Given the description of an element on the screen output the (x, y) to click on. 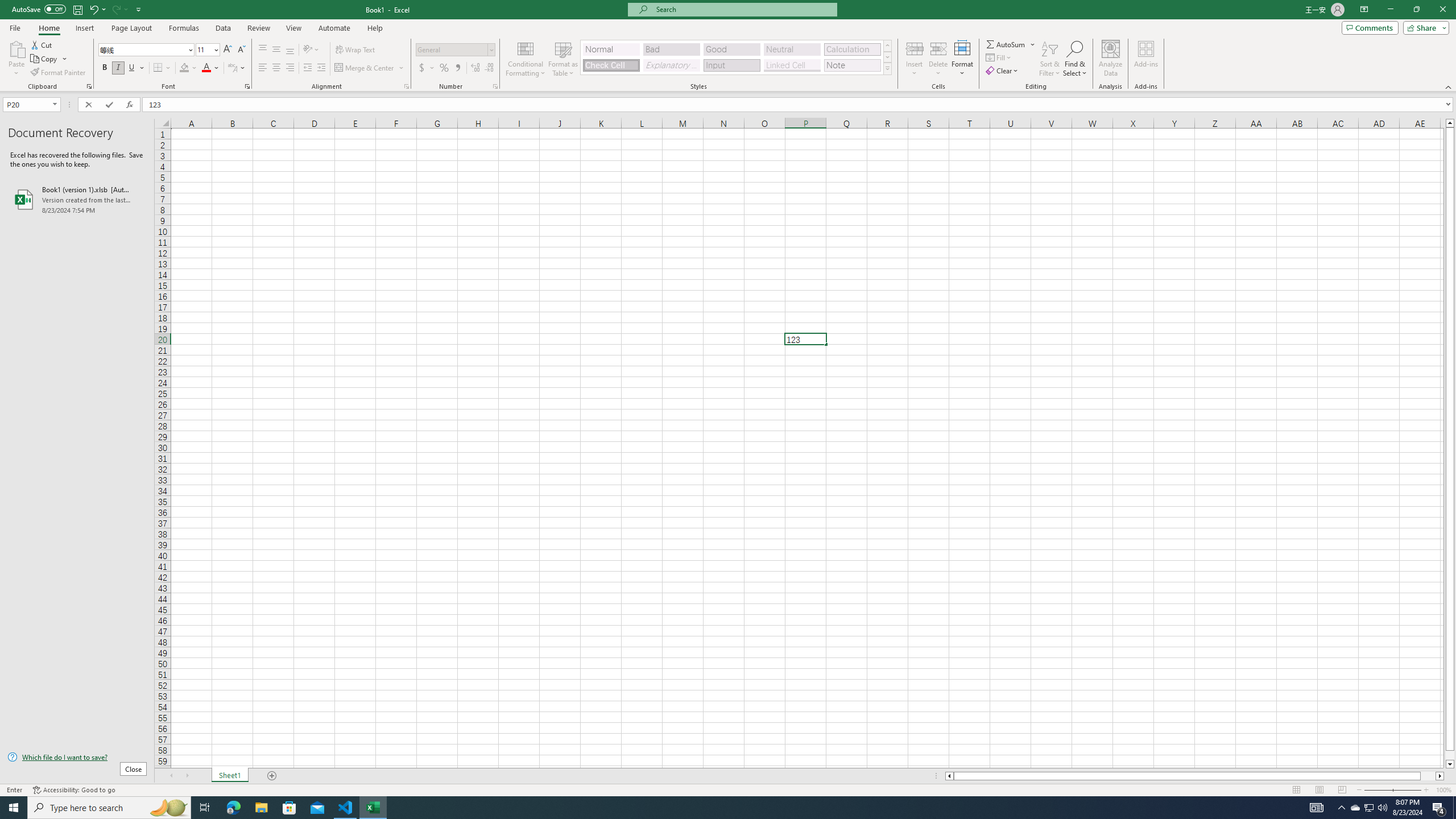
AutoSave (38, 9)
Align Right (290, 67)
Show Phonetic Field (231, 67)
Copy (49, 58)
Number Format (455, 49)
Wrap Text (355, 49)
Open (54, 104)
Scroll Right (187, 775)
Font (142, 49)
Save (77, 9)
Calculation (852, 49)
Orientation (311, 49)
Minimize (1390, 9)
Insert Cells (914, 48)
